Given the description of an element on the screen output the (x, y) to click on. 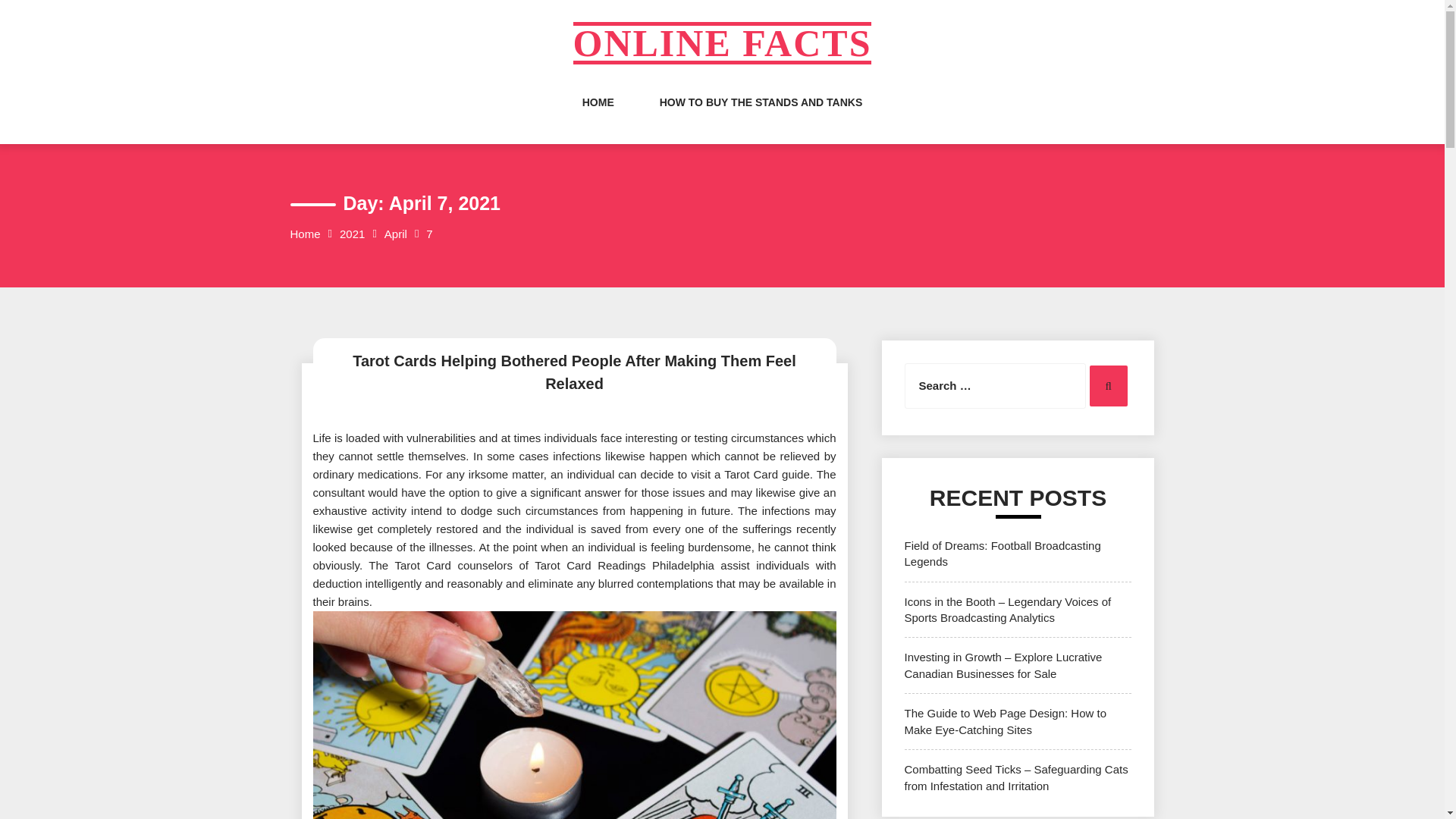
April (395, 233)
2021 (352, 233)
Home (304, 233)
Field of Dreams: Football Broadcasting Legends (1002, 553)
Search (1107, 385)
HOW TO BUY THE STANDS AND TANKS (761, 117)
ONLINE FACTS (722, 43)
The Guide to Web Page Design: How to Make Eye-Catching Sites (1005, 720)
